Given the description of an element on the screen output the (x, y) to click on. 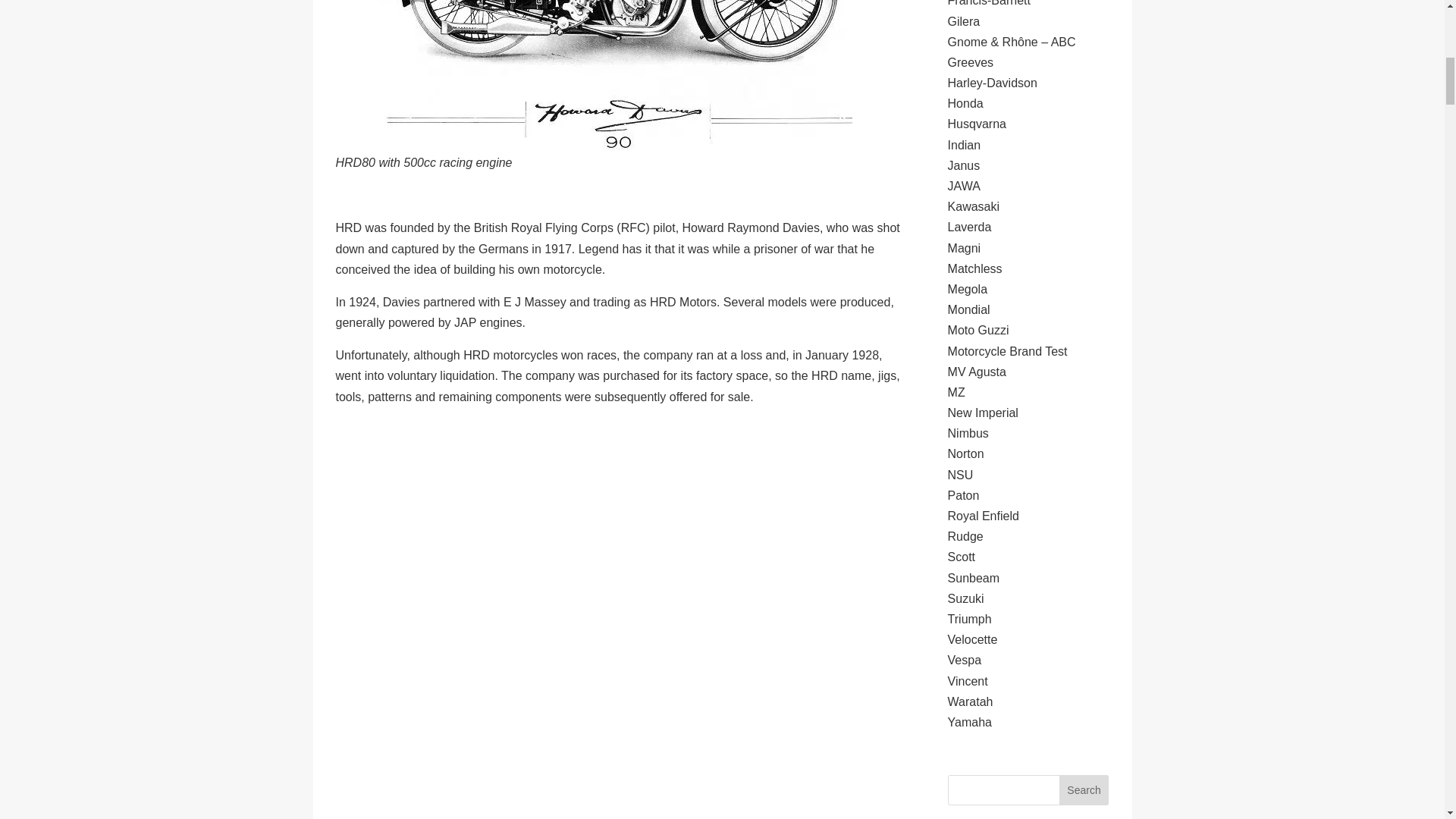
Search (1084, 789)
